Given the description of an element on the screen output the (x, y) to click on. 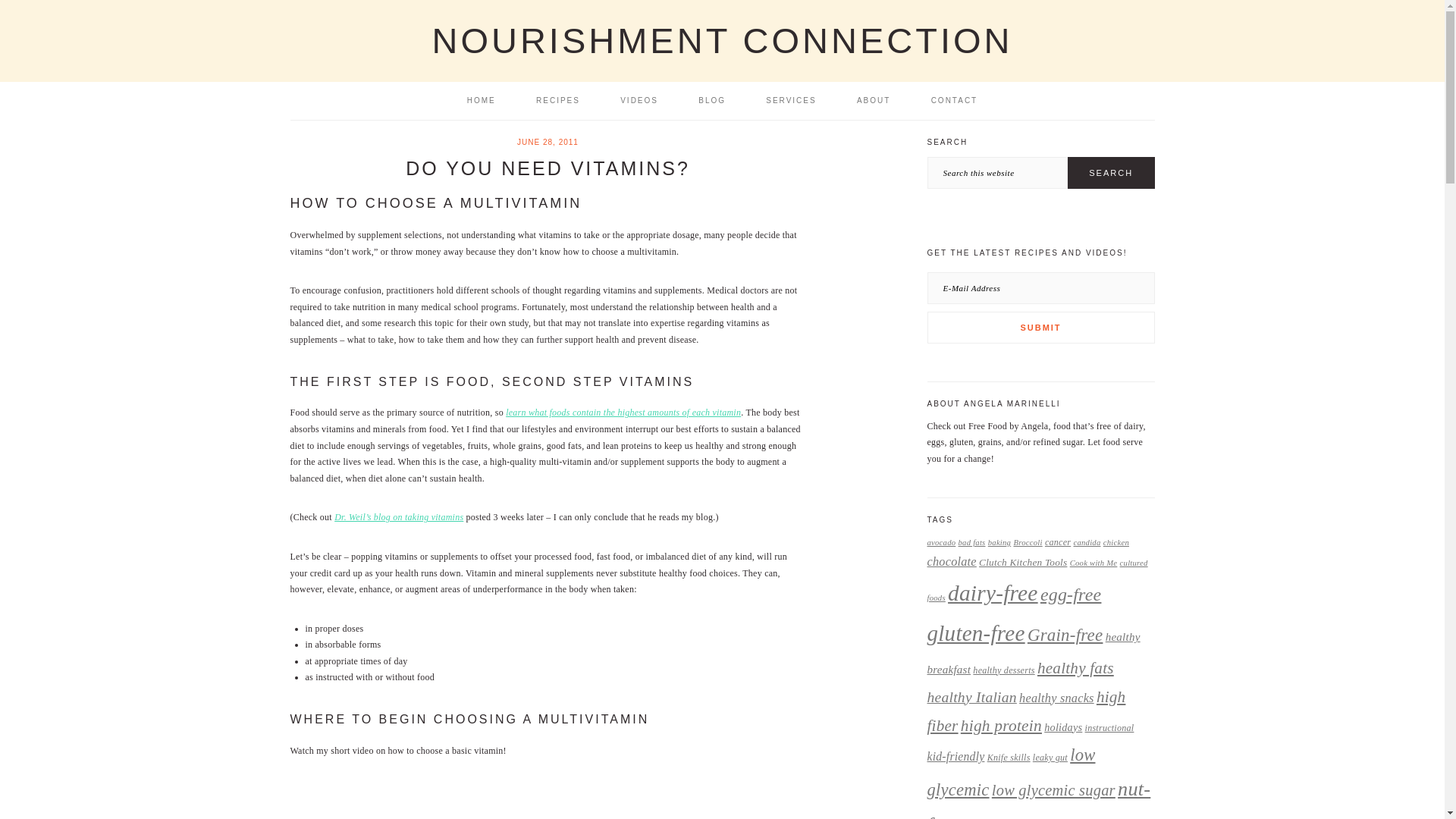
CONTACT (954, 100)
ABOUT (873, 100)
NOURISHMENT CONNECTION (720, 40)
VIDEOS (639, 100)
Search (1110, 173)
BLOG (711, 100)
What Vitamins are in What Foods (623, 412)
learn what foods contain the highest amounts of each vitamin (623, 412)
HOME (481, 100)
Submit (1040, 327)
RECIPES (557, 100)
Dr. Weil's blog, "Should You Take a Multivitamin?" (398, 516)
Search (1110, 173)
Nutrition Basics: Choosing a multivitamin (547, 800)
